Given the description of an element on the screen output the (x, y) to click on. 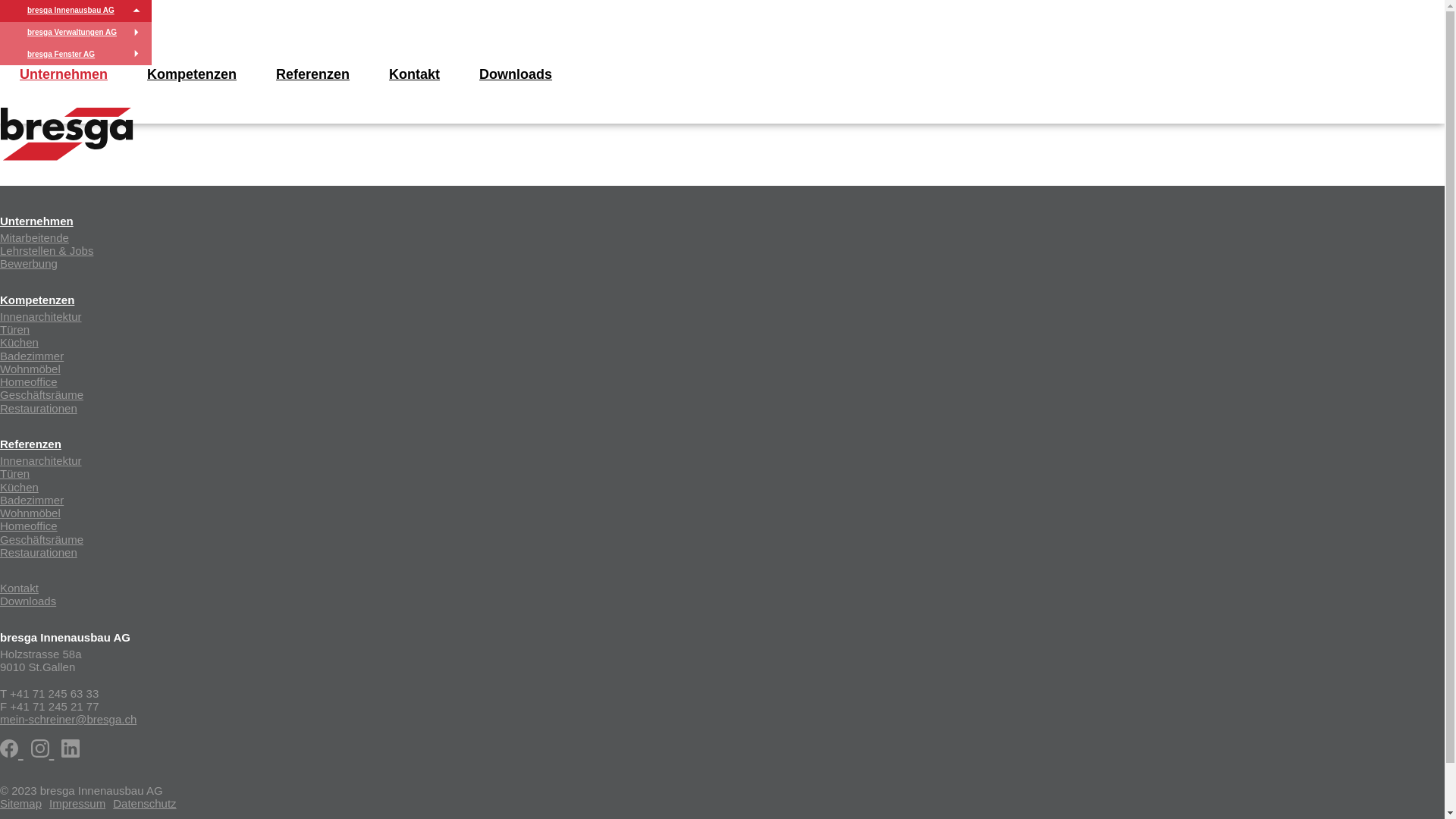
Downloads Element type: text (515, 73)
Kompetenzen Element type: text (191, 73)
Referenzen Element type: text (30, 443)
Badezimmer Element type: text (31, 499)
Unternehmen Element type: text (36, 219)
Innenarchitektur Element type: text (40, 460)
Mitarbeitende Element type: text (34, 237)
mein-schreiner@bresga.ch Element type: text (68, 718)
bresga Verwaltungen AG Element type: text (71, 32)
Restaurationen Element type: text (38, 407)
Unternehmen Element type: text (63, 73)
Referenzen Element type: text (312, 73)
Sitemap Element type: text (20, 803)
Restaurationen Element type: text (38, 552)
Downloads Element type: text (28, 600)
Kontakt Element type: text (414, 73)
bresga Fenster AG Element type: text (60, 54)
Impressum Element type: text (77, 803)
bresga Innenausbau AG Element type: text (70, 10)
innenausbau Element type: hover (66, 133)
Kontakt Element type: text (19, 587)
Innenarchitektur Element type: text (40, 316)
Kompetenzen Element type: text (37, 298)
Homeoffice Element type: text (28, 381)
Lehrstellen & Jobs Element type: text (46, 250)
Datenschutz Element type: text (143, 803)
Bewerbung Element type: text (28, 263)
Homeoffice Element type: text (28, 525)
Badezimmer Element type: text (31, 354)
